Given the description of an element on the screen output the (x, y) to click on. 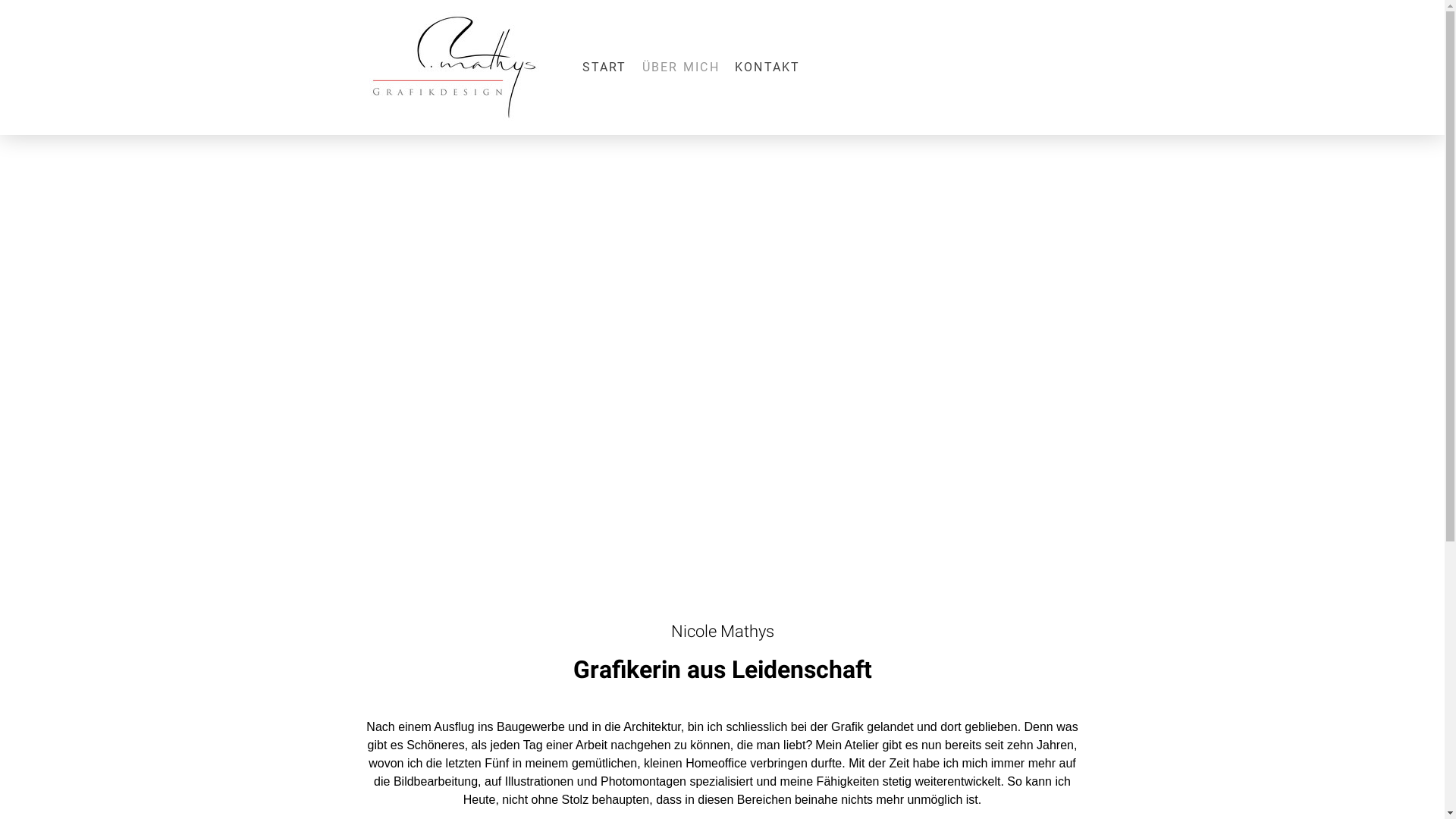
Atelier Mathys Element type: text (426, 542)
KONTAKT Element type: text (767, 67)
START Element type: text (604, 67)
